Given the description of an element on the screen output the (x, y) to click on. 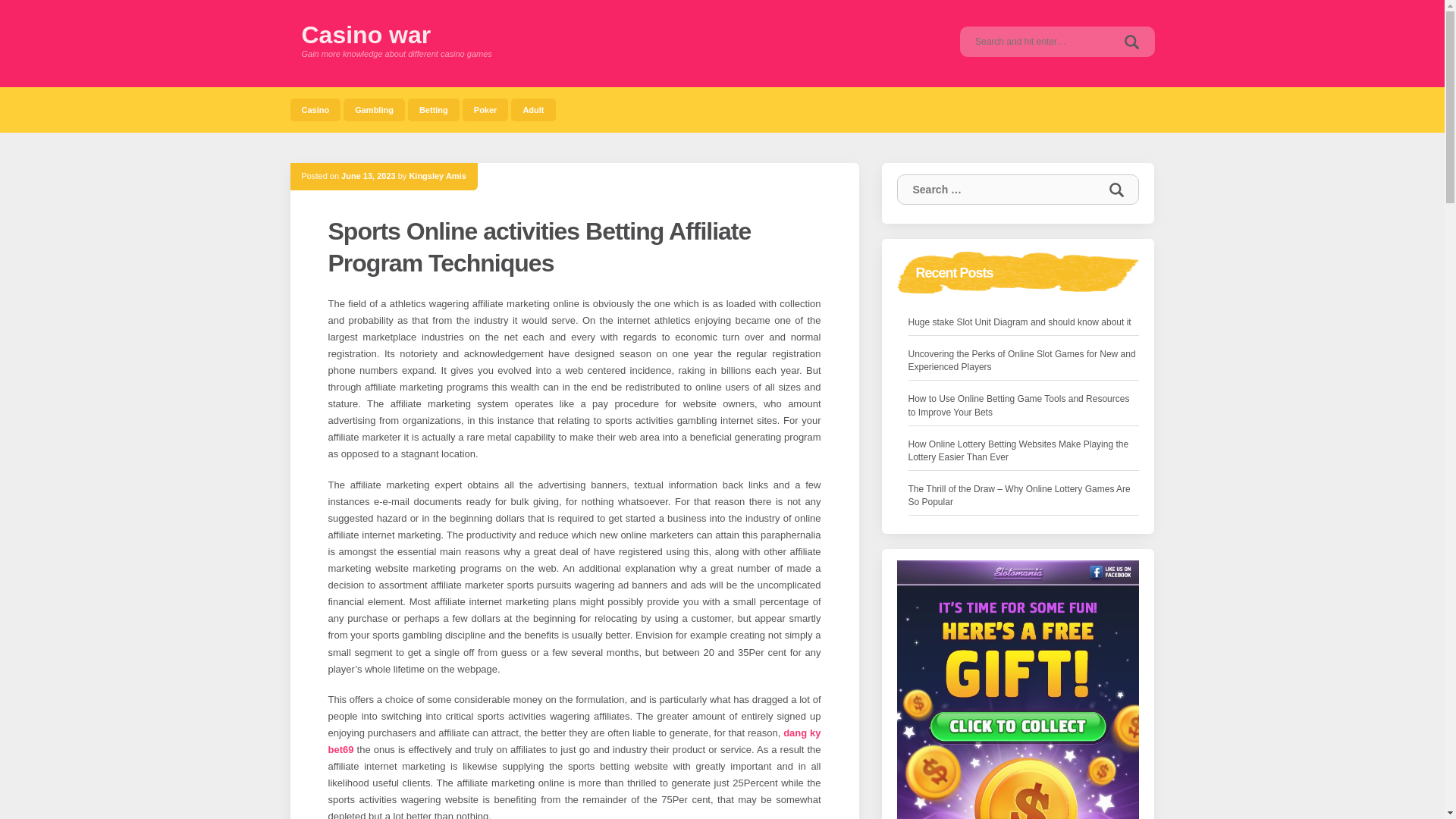
June 13, 2023 (368, 175)
Search (1115, 189)
Search (1131, 41)
Huge stake Slot Unit Diagram and should know about it (1019, 322)
Betting (433, 109)
Gambling (373, 109)
Betting (433, 109)
Gambling (373, 109)
Search (1131, 41)
